Given the description of an element on the screen output the (x, y) to click on. 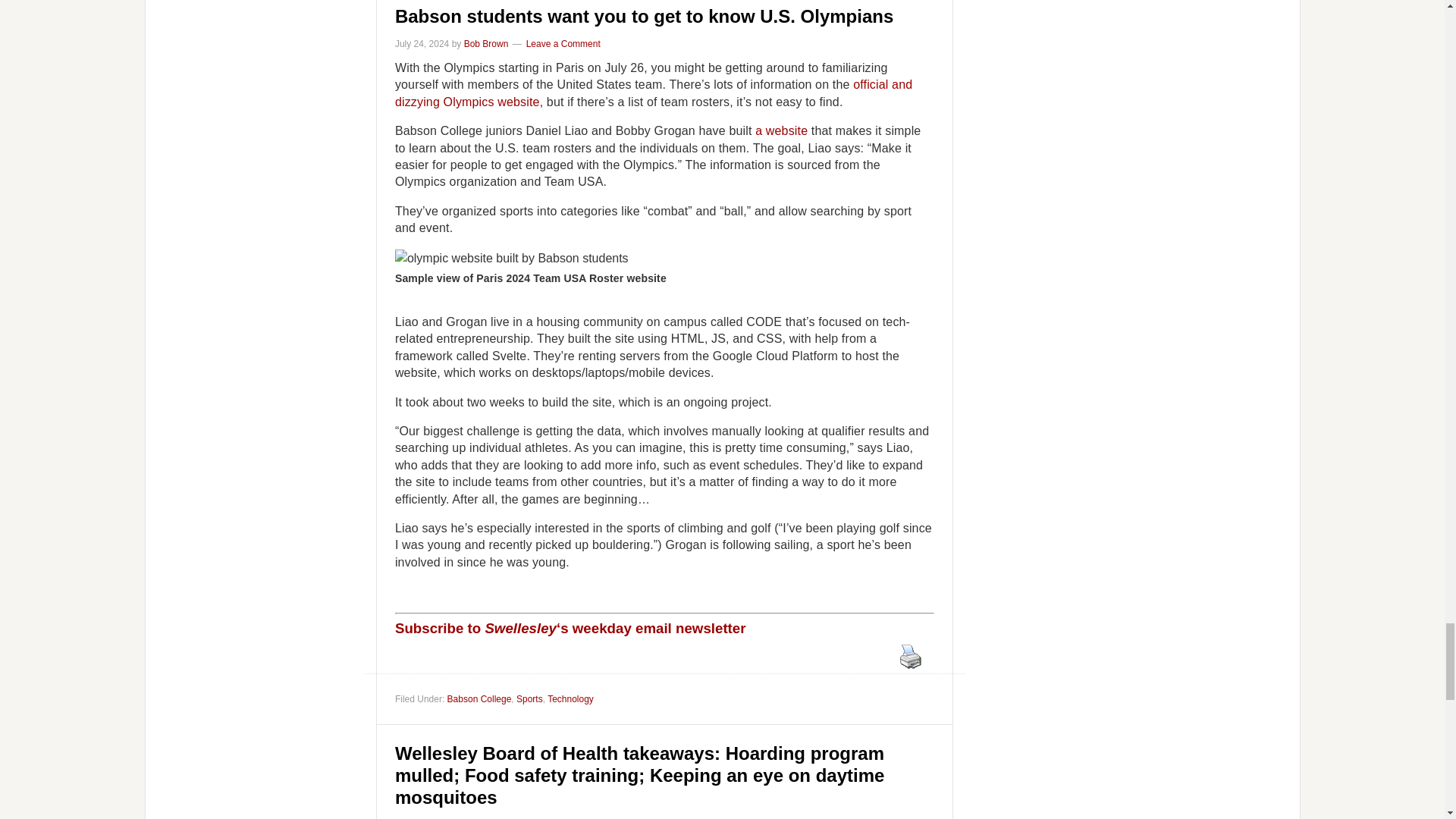
Print Content (910, 656)
